Given the description of an element on the screen output the (x, y) to click on. 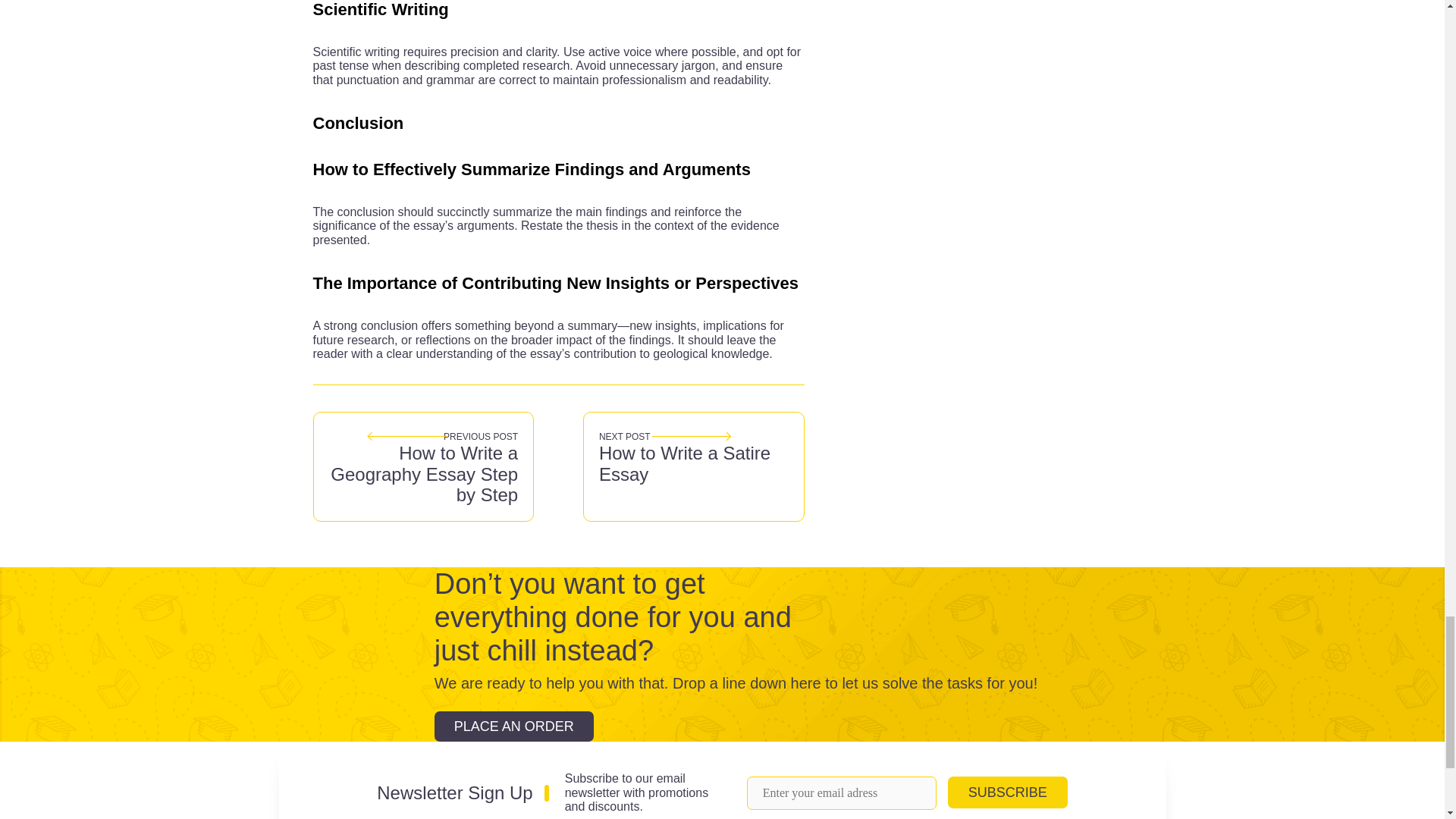
SUBSCRIBE (1007, 792)
